Given the description of an element on the screen output the (x, y) to click on. 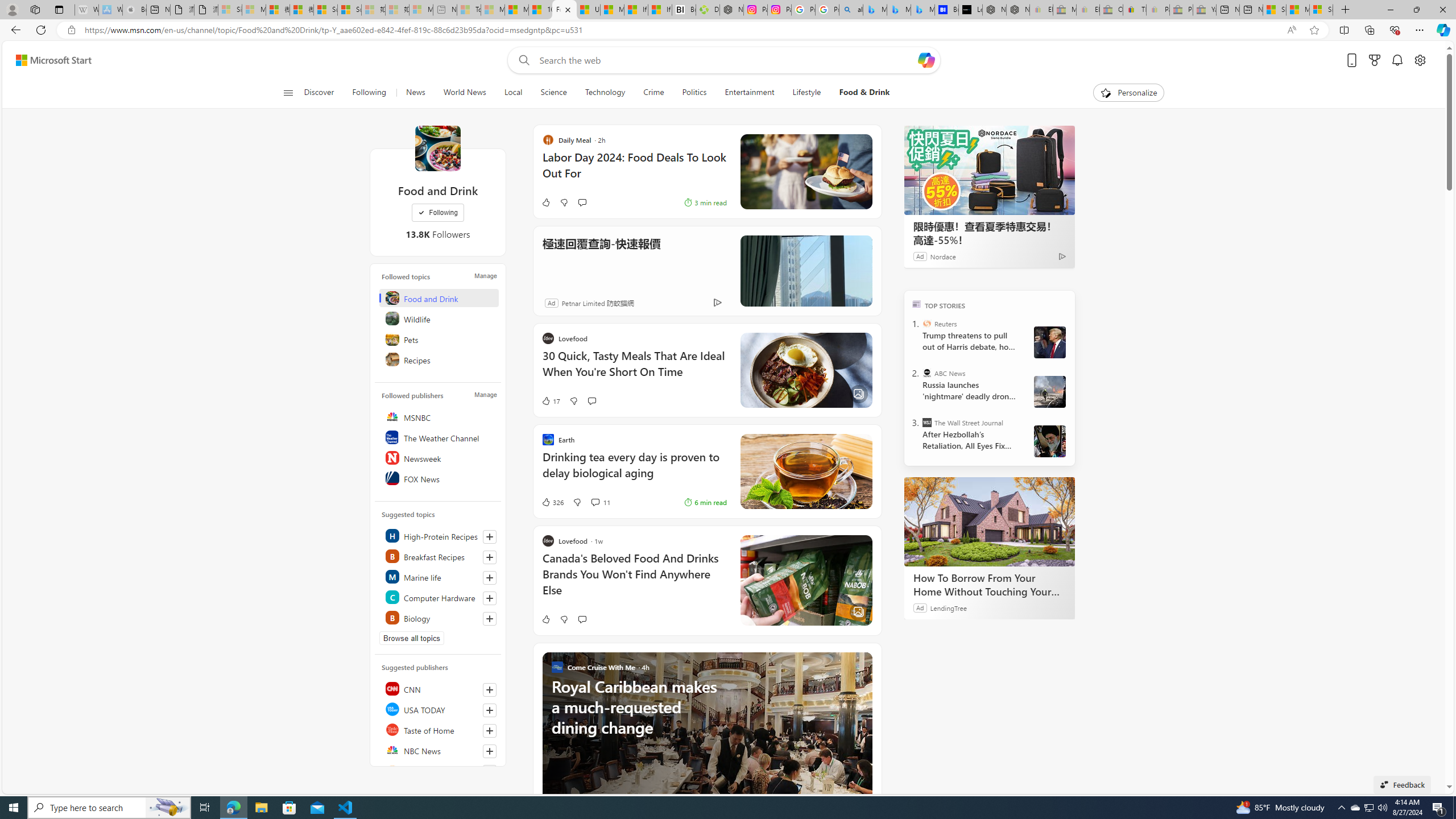
Threats and offensive language policy | eBay (1134, 9)
Microsoft Bing Travel - Shangri-La Hotel Bangkok (922, 9)
View comments 11 Comment (599, 502)
Nordace (943, 256)
Marine life - MSN - Sleeping (492, 9)
Local (512, 92)
Yard, Garden & Outdoor Living - Sleeping (1204, 9)
